Given the description of an element on the screen output the (x, y) to click on. 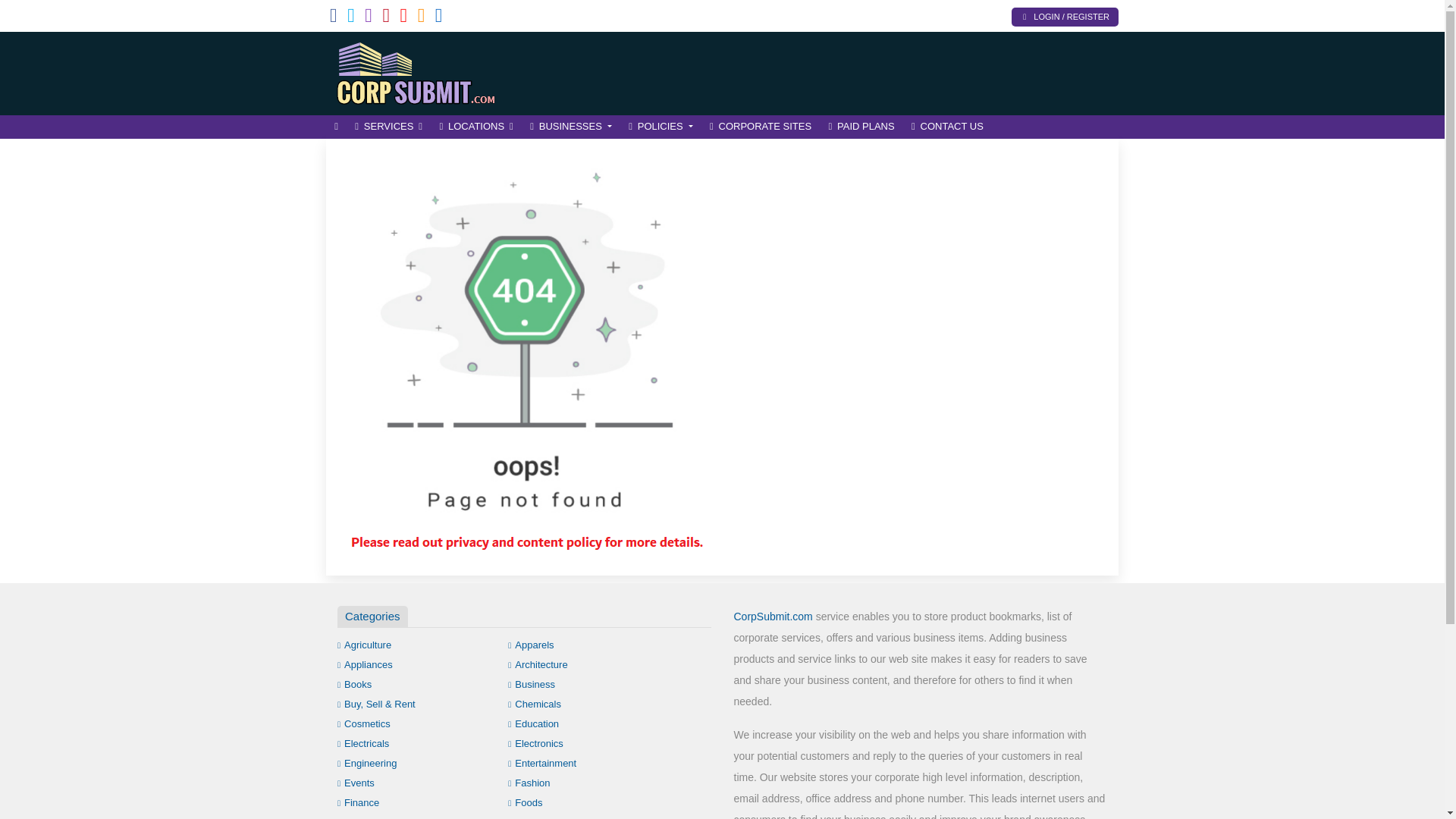
Corporate Bookmarking Service for Website Visitors Traffic (428, 71)
LOCATIONS (475, 126)
SERVICES (388, 126)
